Given the description of an element on the screen output the (x, y) to click on. 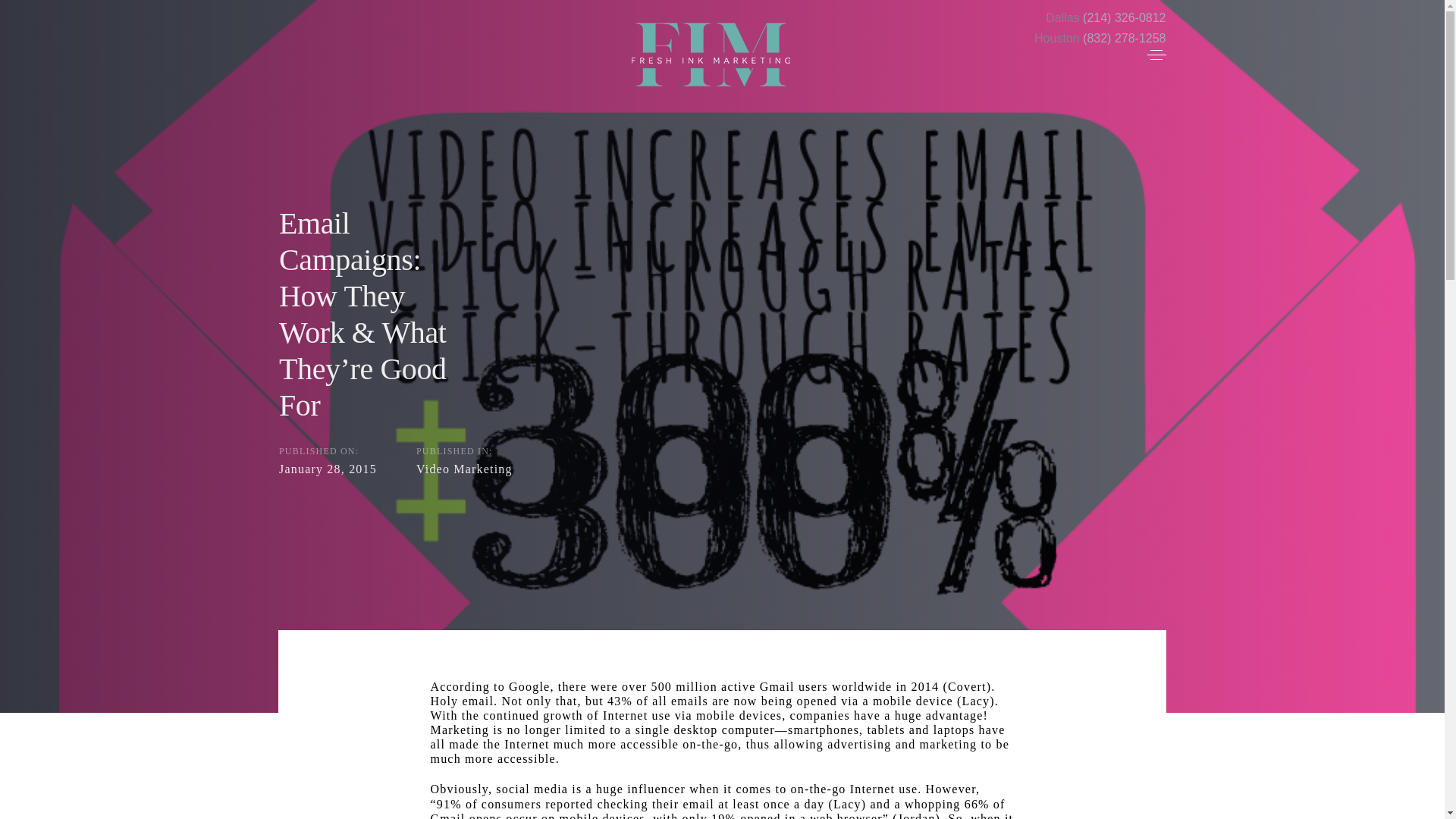
January 28, 2015 (328, 468)
Video Marketing (463, 468)
